Given the description of an element on the screen output the (x, y) to click on. 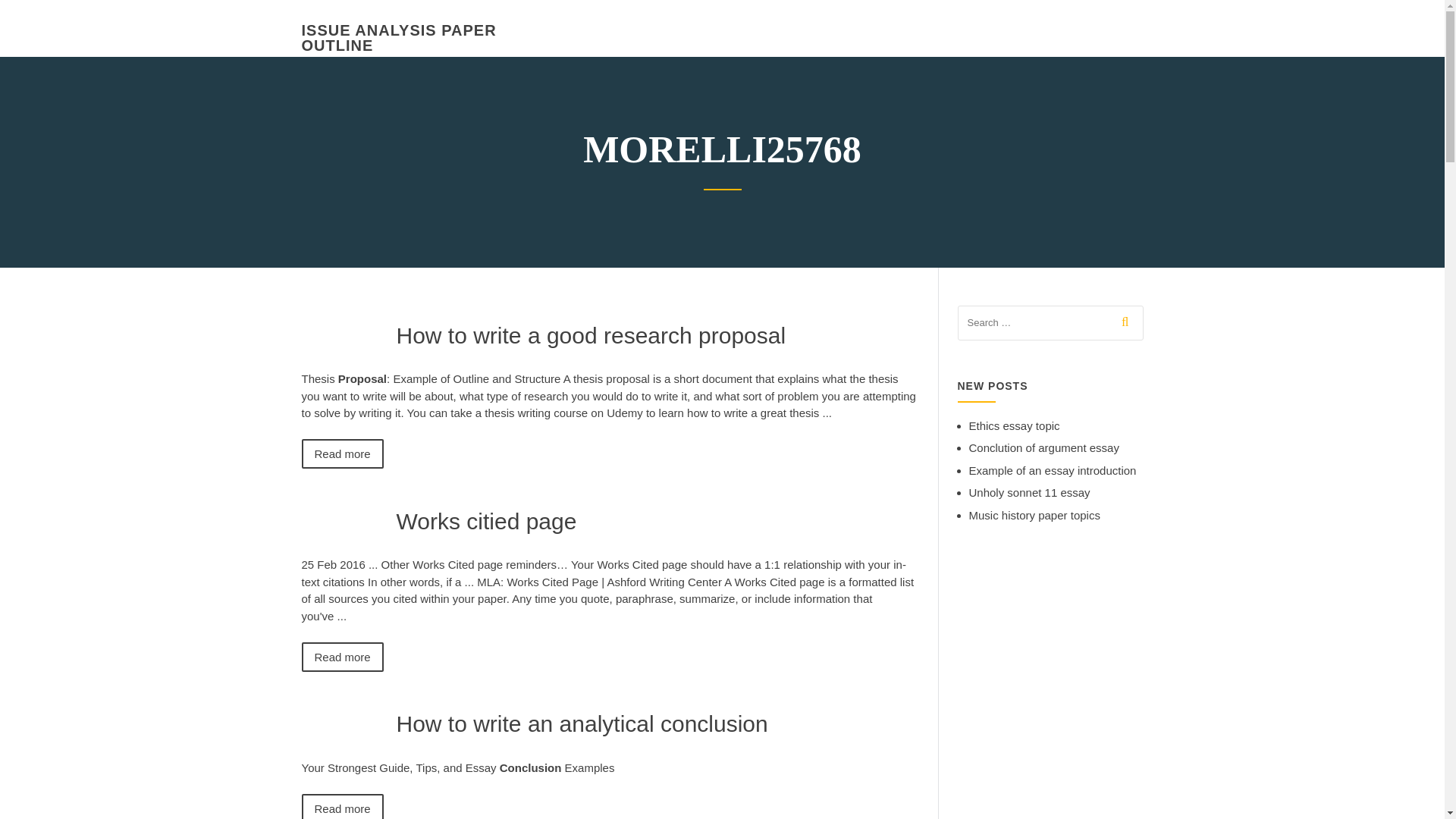
How to write a good research proposal (591, 335)
Read more (342, 655)
Works citied page (486, 520)
How to write an analytical conclusion (581, 723)
Read more (342, 453)
ISSUE ANALYSIS PAPER OUTLINE (398, 38)
Read more (342, 806)
